Given the description of an element on the screen output the (x, y) to click on. 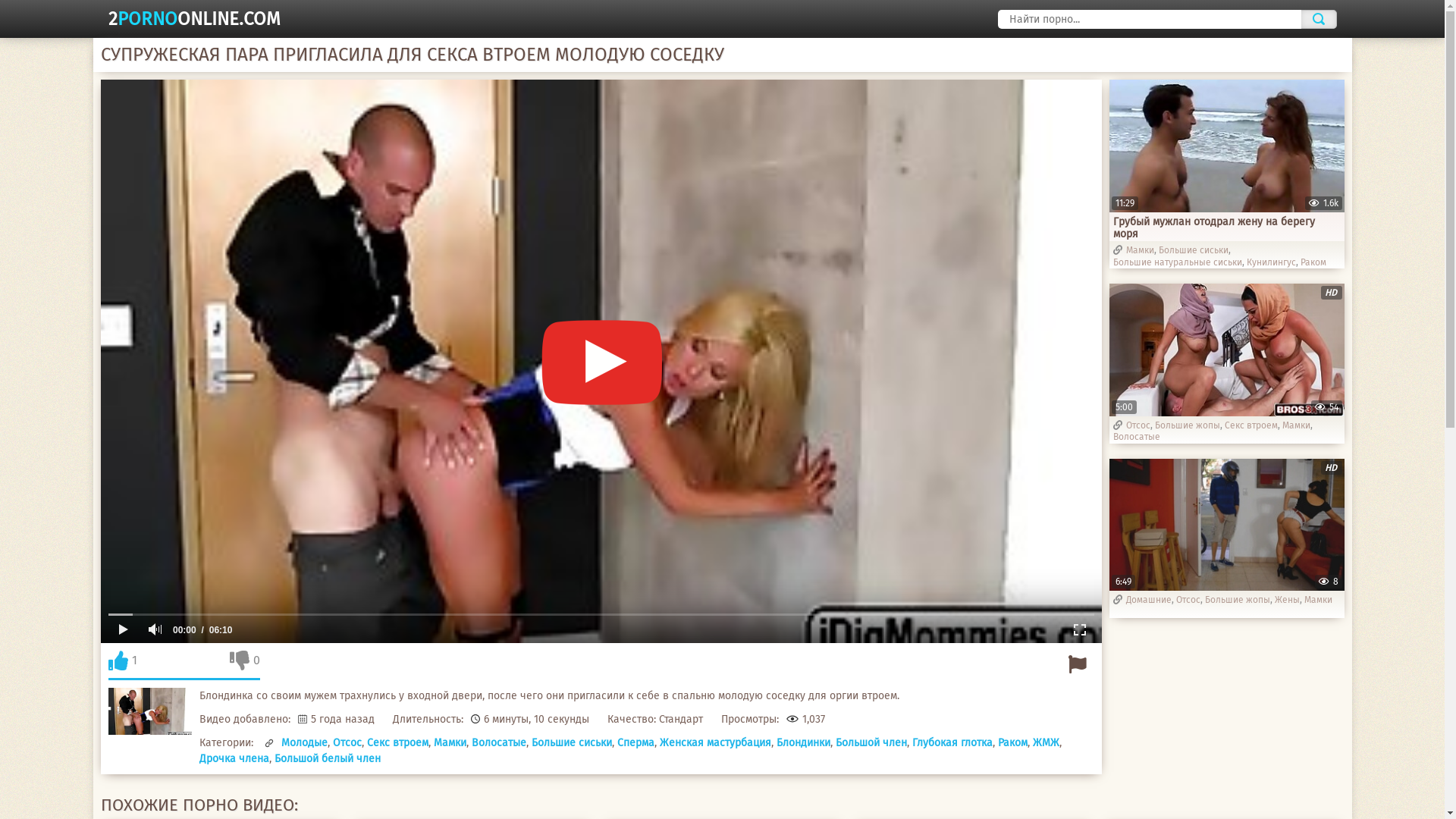
2PORNOONLINE.COM Element type: text (193, 18)
HD
6:49
8 Element type: text (1225, 524)
HD
5:00
54 Element type: text (1225, 349)
